Given the description of an element on the screen output the (x, y) to click on. 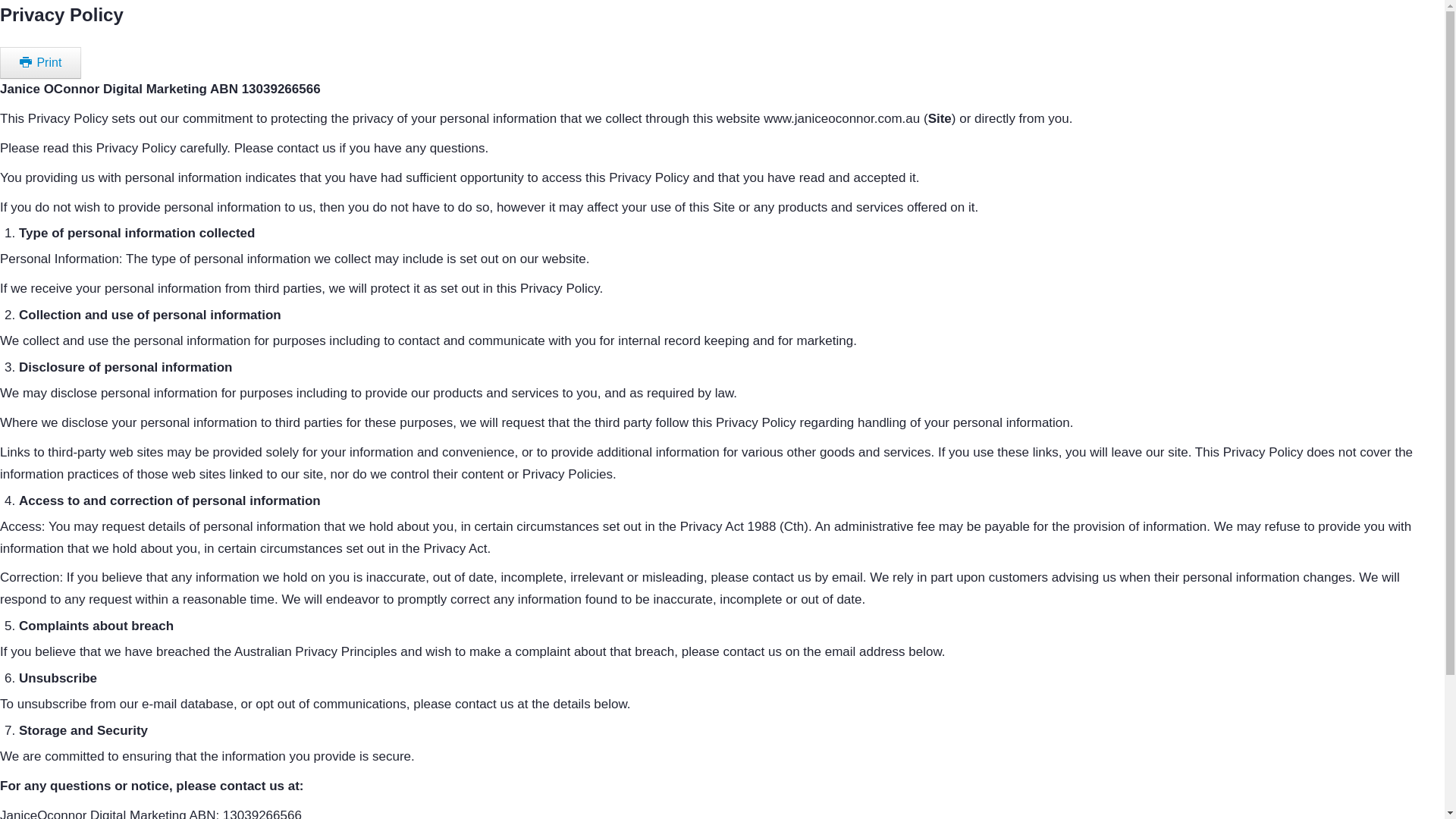
Print Element type: text (40, 62)
